Given the description of an element on the screen output the (x, y) to click on. 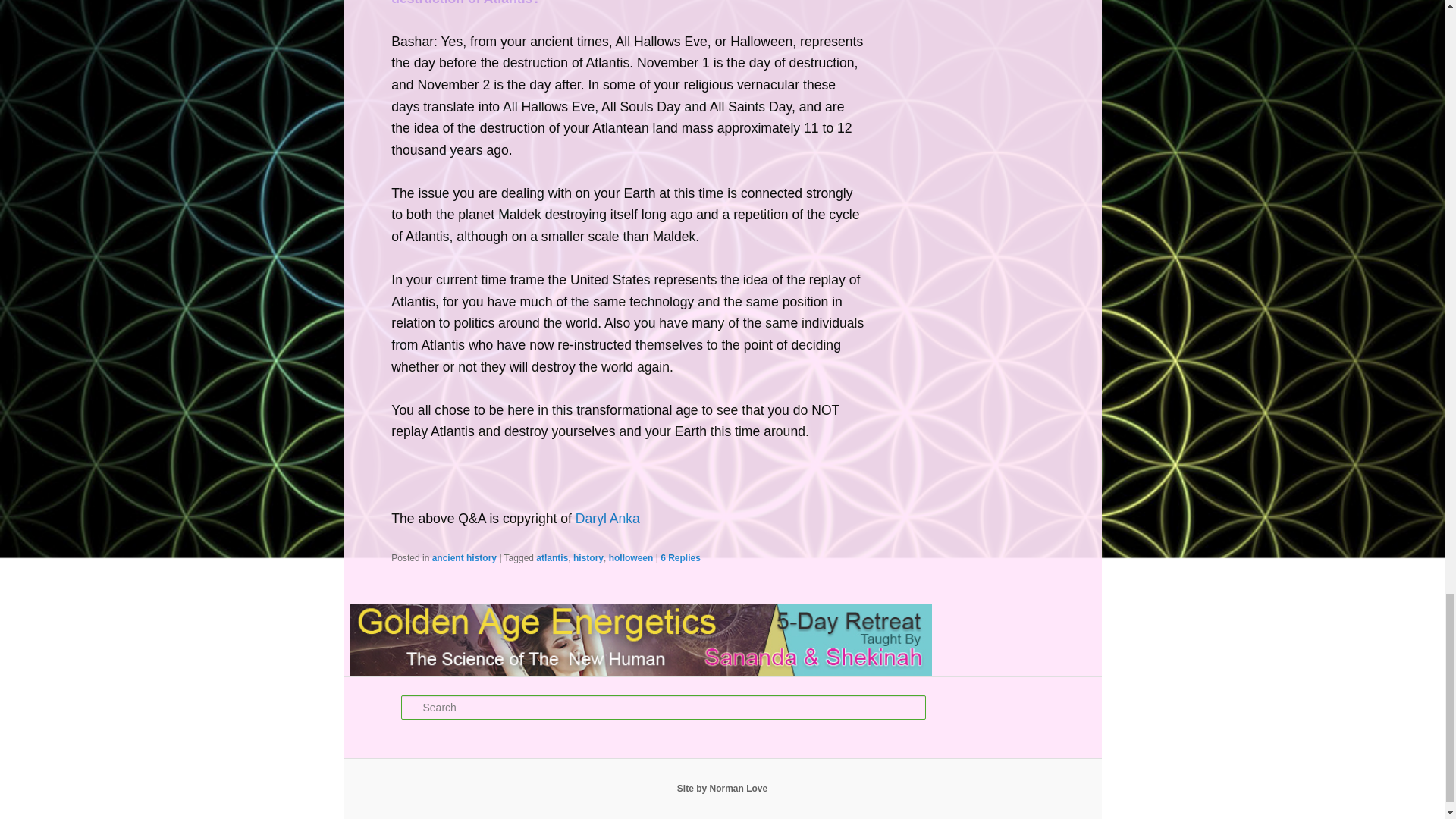
6 Replies (680, 557)
atlantis (551, 557)
history (588, 557)
holloween (630, 557)
Daryl Anka (607, 518)
Bashar (607, 518)
Affordable web sites (722, 787)
ancient history (464, 557)
